Given the description of an element on the screen output the (x, y) to click on. 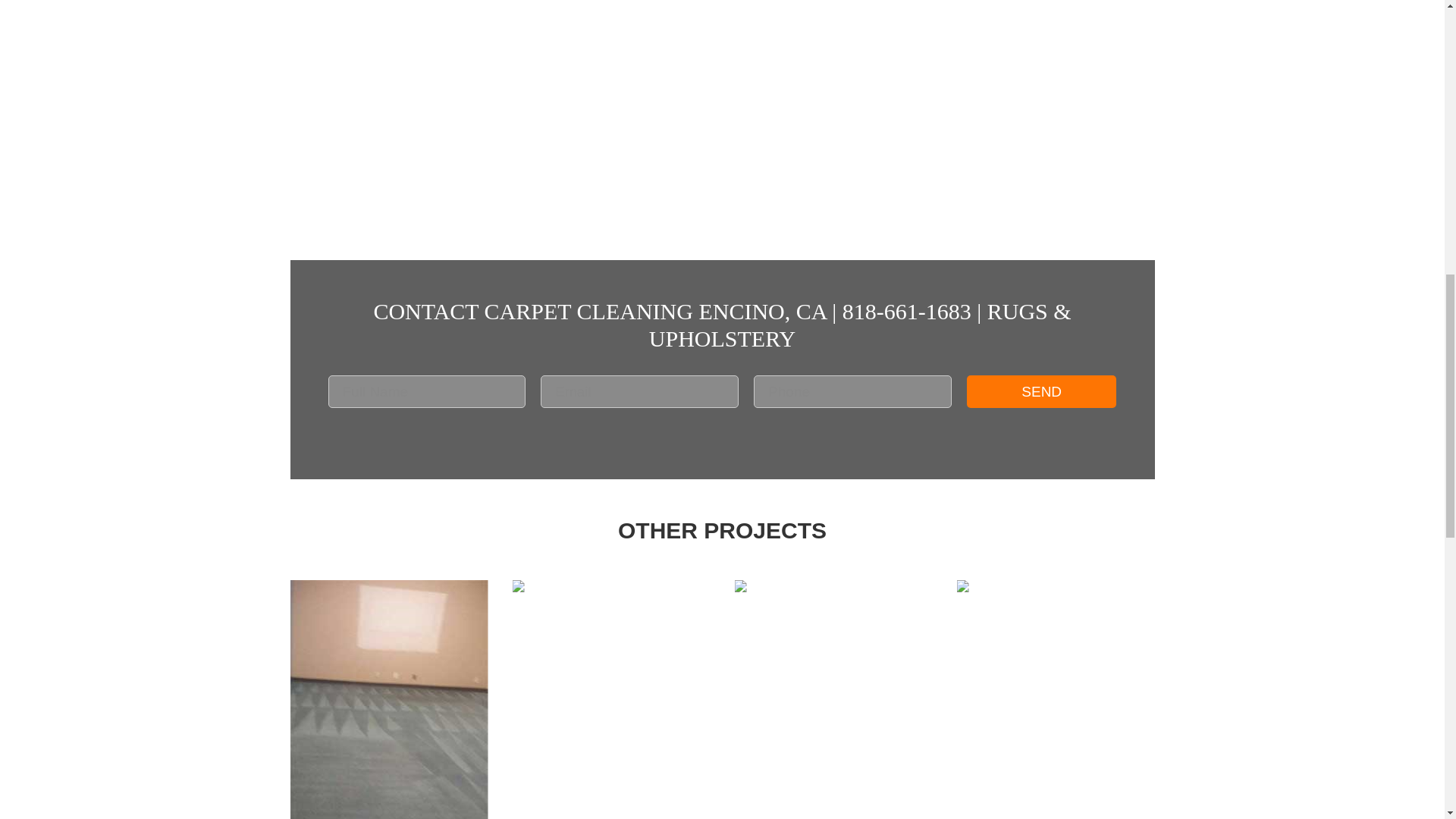
EFFECTIVE RUG CLEANING IN LAKE BALBOA (611, 699)
QUICK CARPET STAIN REMOVAL NEAR LAKE BALBOA (832, 699)
SEND (1041, 391)
LOCAL STEAM CLEANING SOFA IN ENCINO (1055, 699)
SEND (1041, 391)
AFFORDABLE CARPET CLEANING SERVICES ENCINO (388, 699)
